Given the description of an element on the screen output the (x, y) to click on. 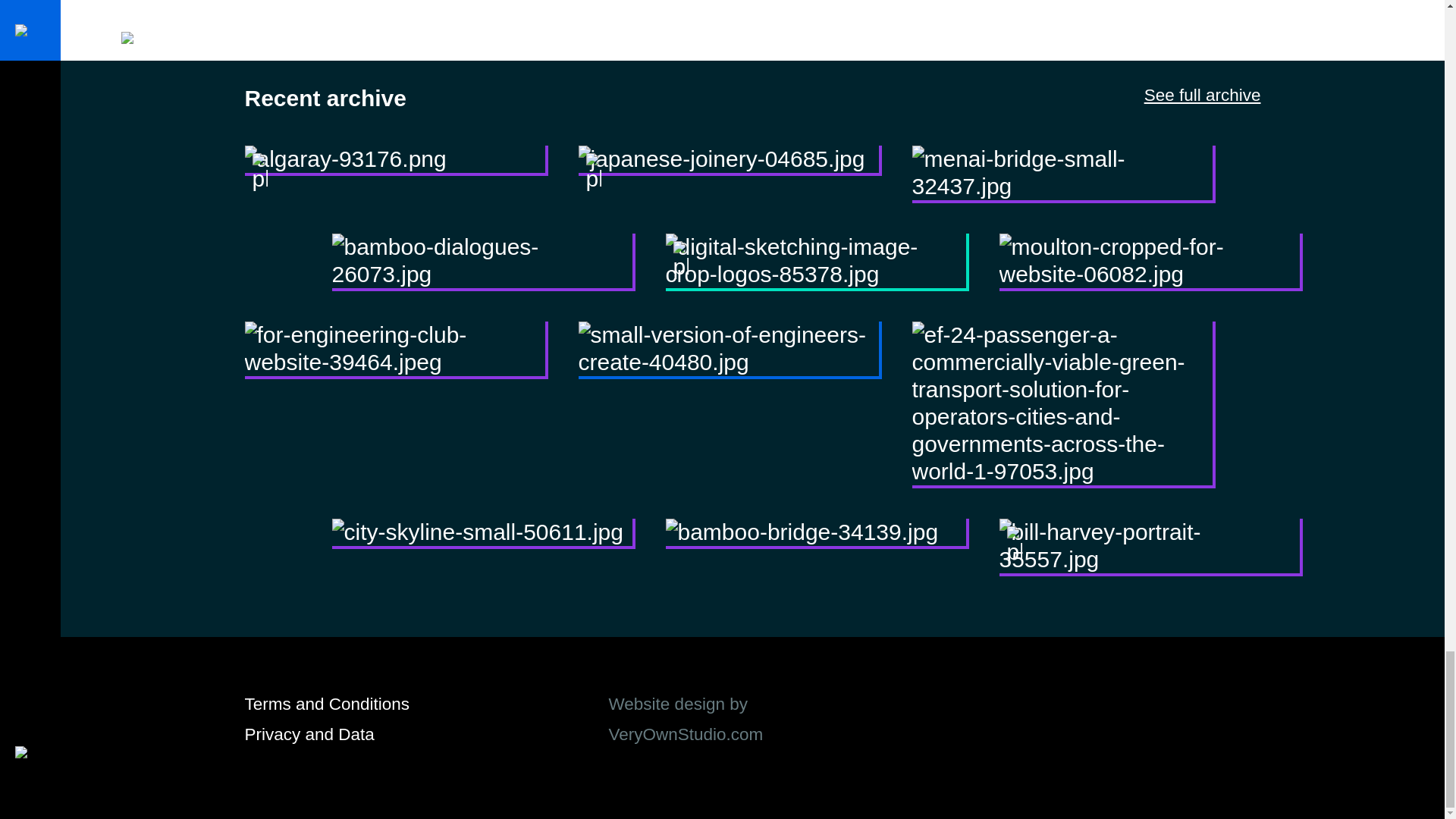
VeryOwnStudio.com (685, 733)
Privacy and Data (309, 733)
Terms and Conditions (326, 703)
See full archive (1202, 95)
